Given the description of an element on the screen output the (x, y) to click on. 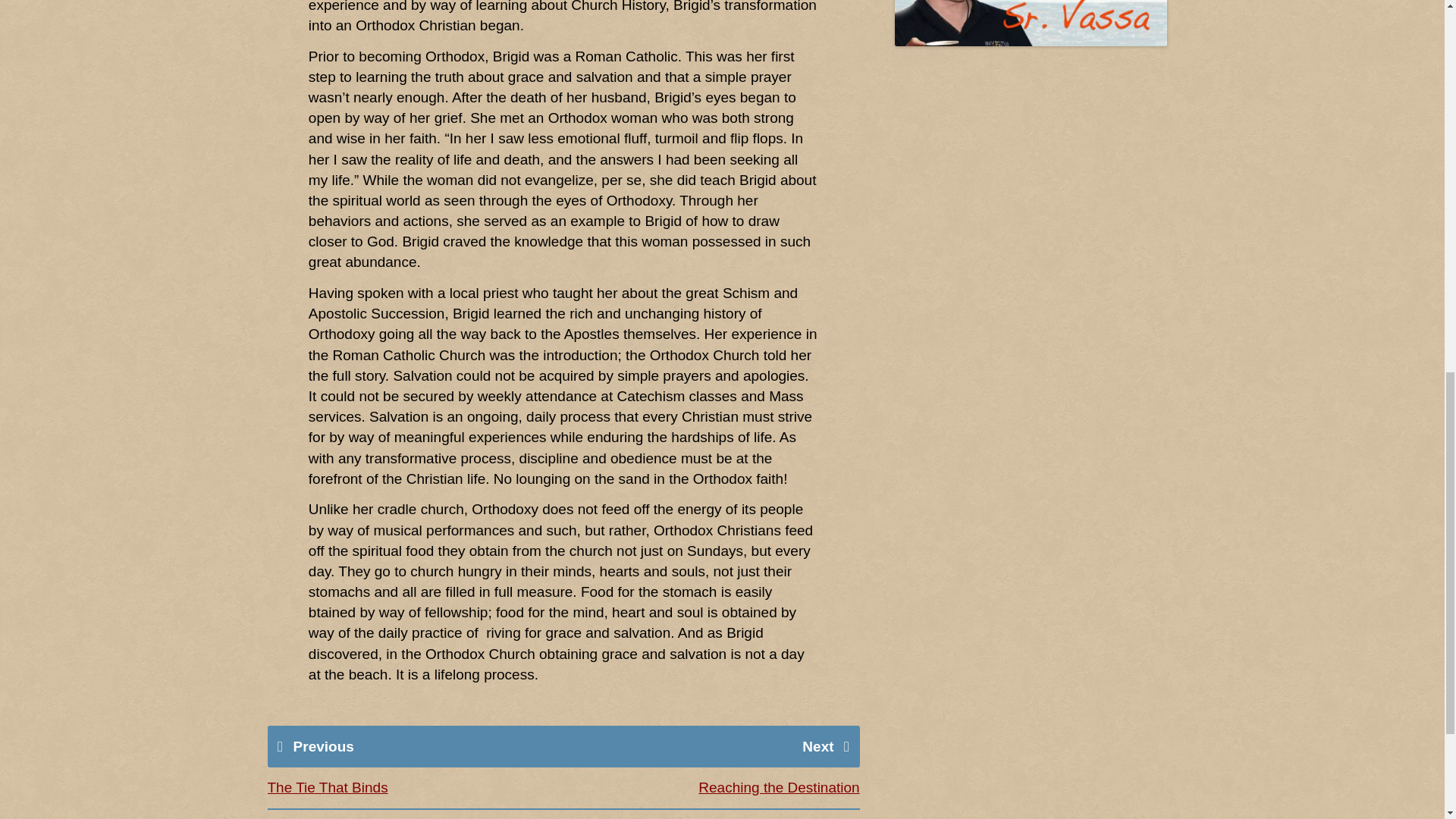
Previous (323, 746)
Next (817, 746)
The Tie That Binds (326, 787)
Reaching the Destination (778, 787)
